Given the description of an element on the screen output the (x, y) to click on. 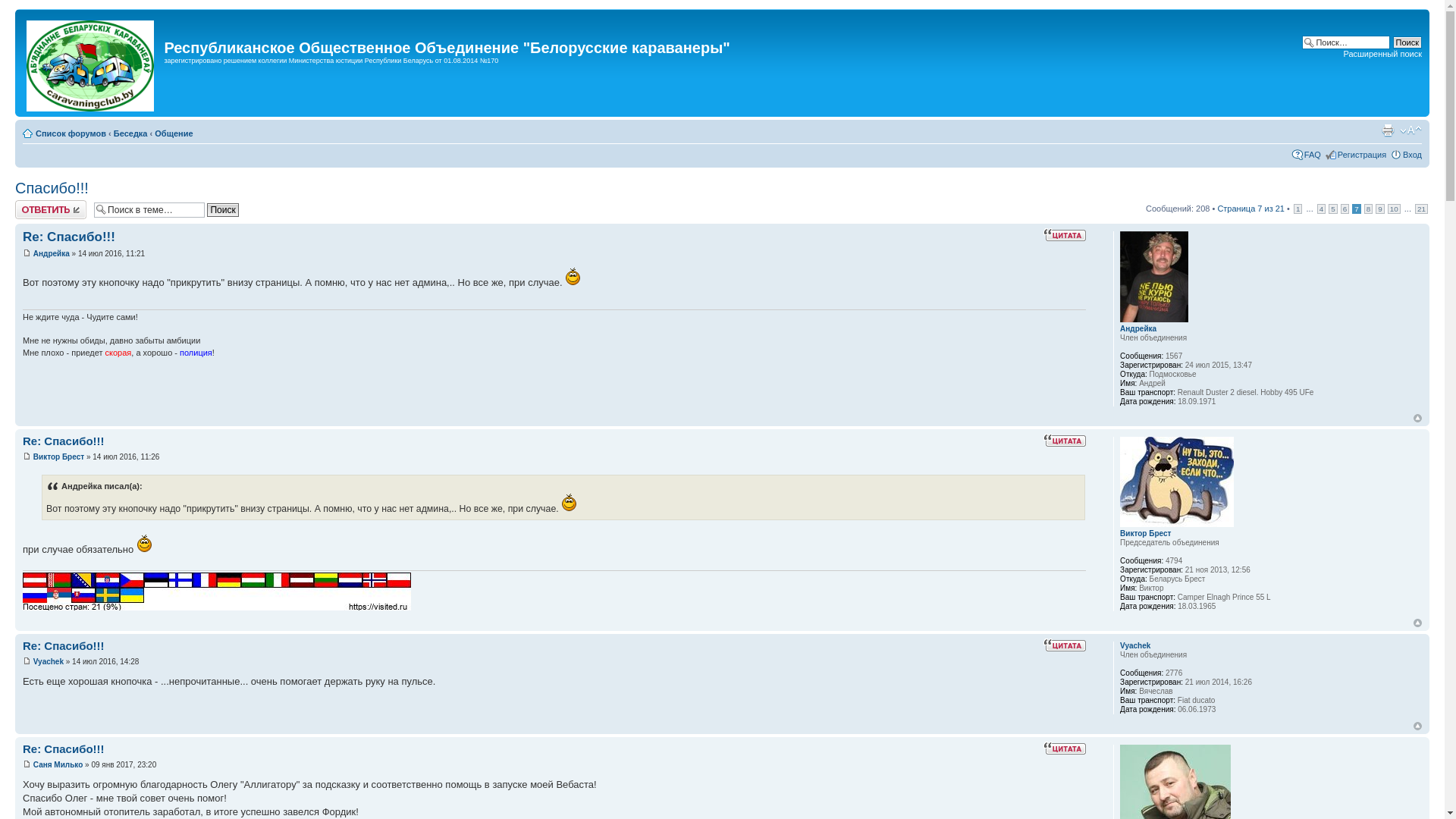
21 Element type: text (1421, 208)
10 Element type: text (1393, 208)
FAQ Element type: text (1312, 154)
6 Element type: text (1344, 208)
1 Element type: text (1297, 208)
Vyachek Element type: text (1135, 645)
9 Element type: text (1379, 208)
8 Element type: text (1368, 208)
5 Element type: text (1332, 208)
Vyachek Element type: text (48, 661)
4 Element type: text (1321, 208)
